Given the description of an element on the screen output the (x, y) to click on. 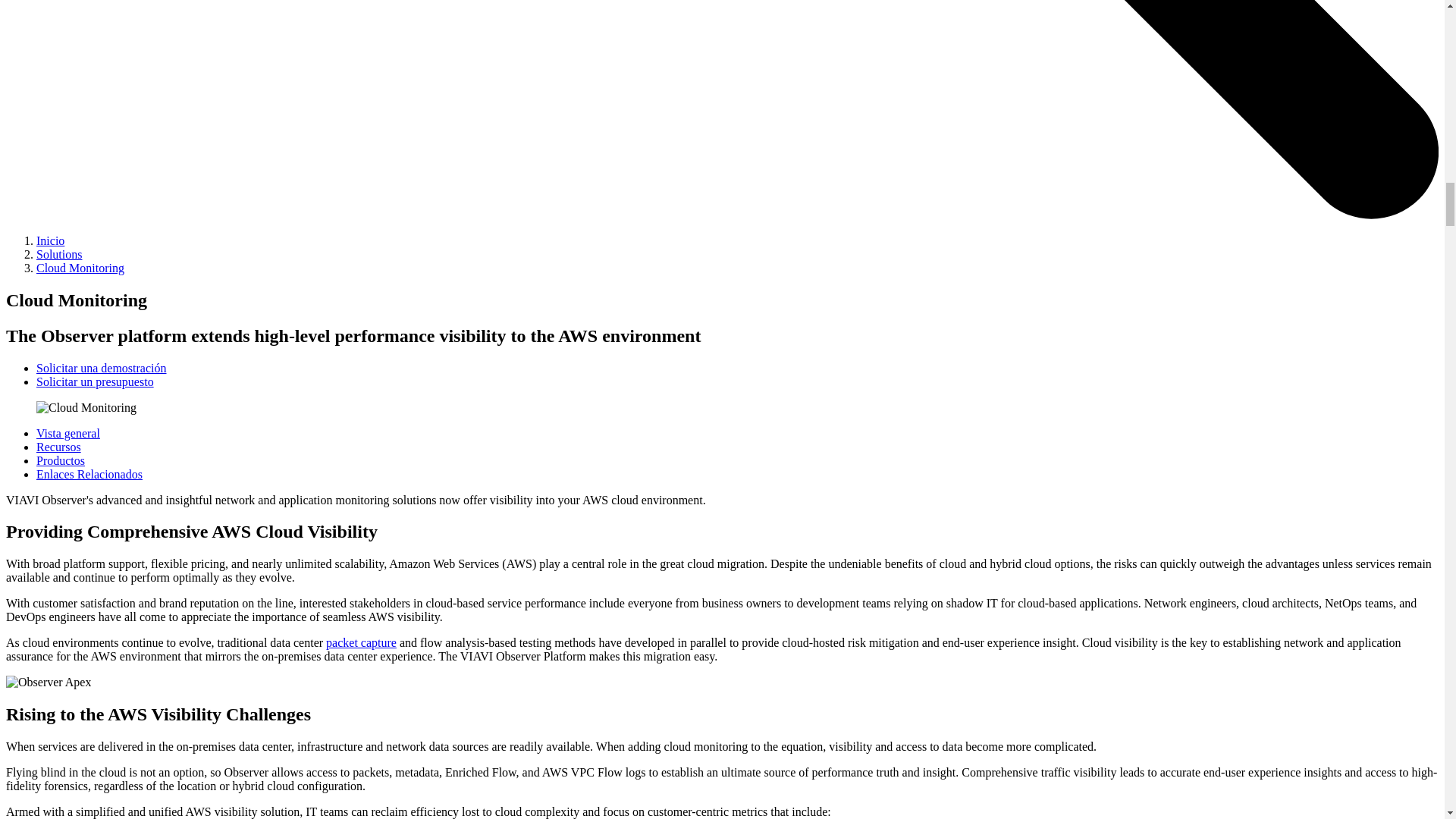
What is Packet Capture?  (361, 642)
Cloud Monitoring (86, 407)
Observer Apex (47, 682)
